Given the description of an element on the screen output the (x, y) to click on. 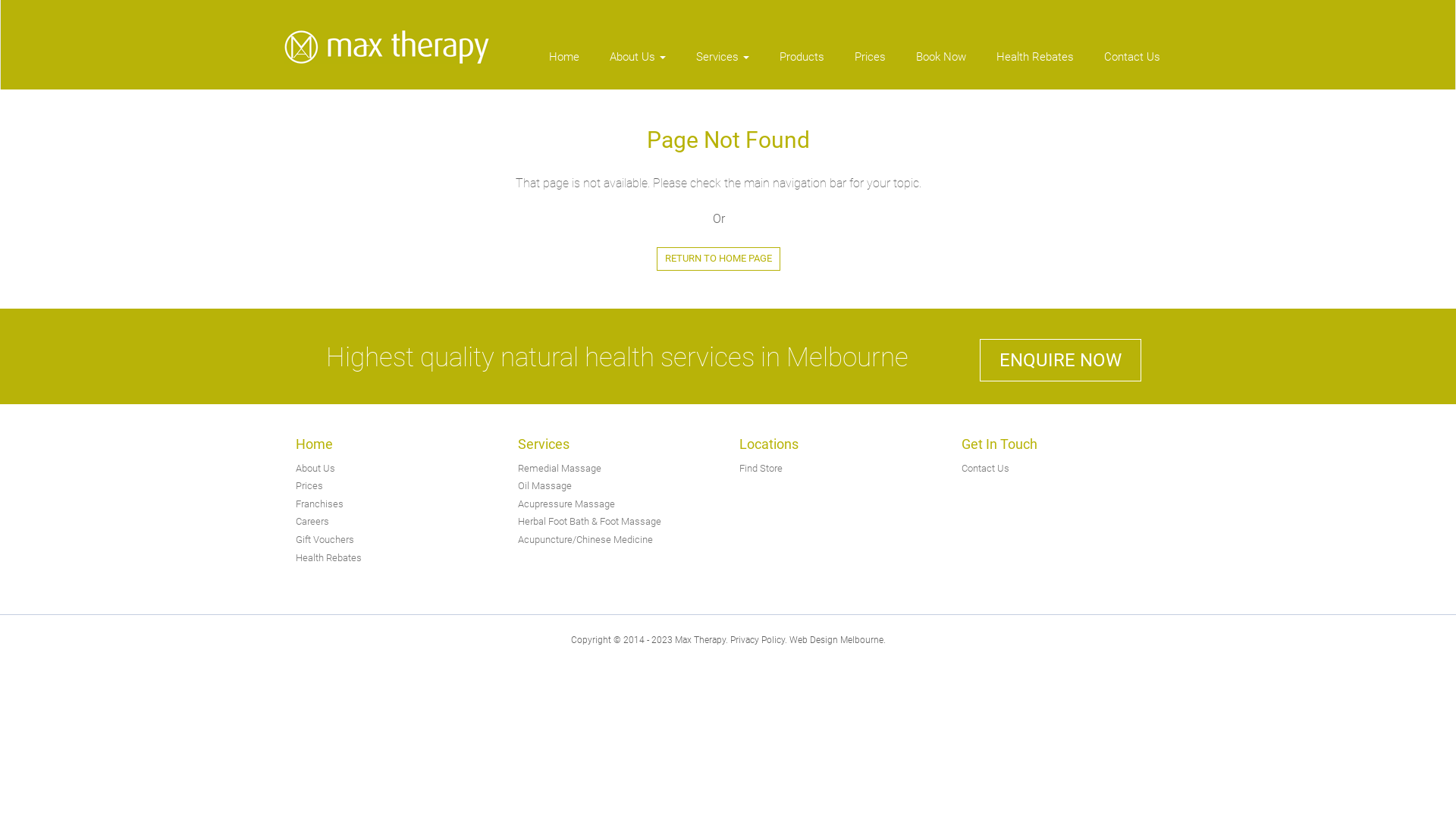
Book Now Element type: text (940, 63)
Herbal Foot Bath & Foot Massage Element type: text (588, 521)
Privacy Policy Element type: text (756, 639)
Find Store Element type: text (760, 467)
Health Rebates Element type: text (1034, 63)
Oil Massage Element type: text (544, 485)
Acupressure Massage Element type: text (565, 503)
Services Element type: text (722, 63)
ENQUIRE NOW Element type: text (1060, 359)
Franchises Element type: text (319, 503)
RETURN TO HOME PAGE Element type: text (718, 258)
Contact Us Element type: text (985, 467)
Home Element type: text (563, 63)
Prices Element type: text (309, 485)
Careers Element type: text (312, 521)
Gift Vouchers Element type: text (324, 539)
Home Element type: text (313, 443)
Products Element type: text (801, 63)
About Us Element type: text (315, 467)
Health Rebates Element type: text (328, 557)
Web Design Melbourne Element type: text (835, 639)
Remedial Massage Element type: text (558, 467)
Contact Us Element type: text (1124, 63)
Acupuncture/Chinese Medicine Element type: text (584, 539)
Prices Element type: text (869, 63)
About Us Element type: text (637, 63)
